Given the description of an element on the screen output the (x, y) to click on. 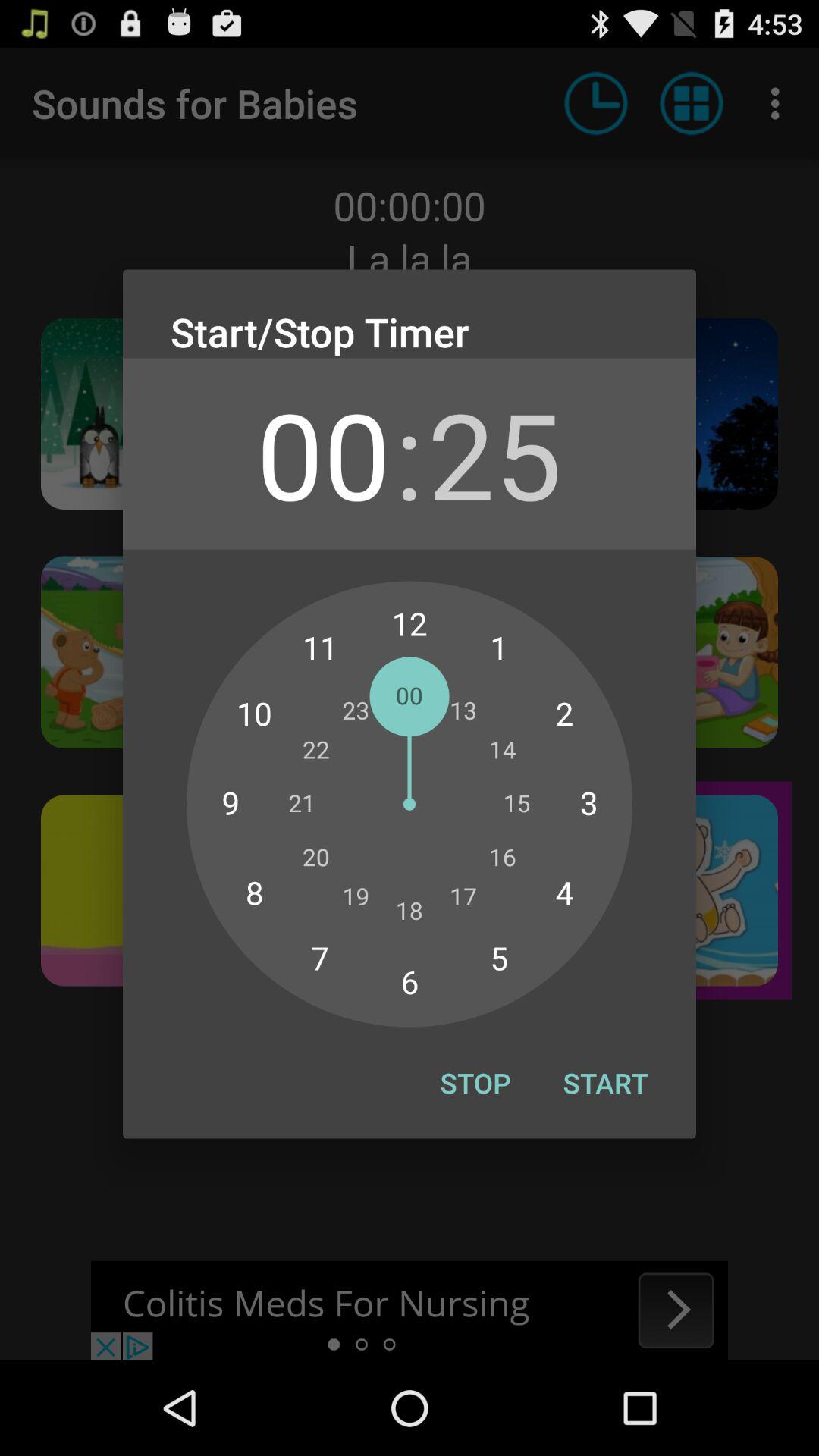
choose 25 (494, 453)
